Given the description of an element on the screen output the (x, y) to click on. 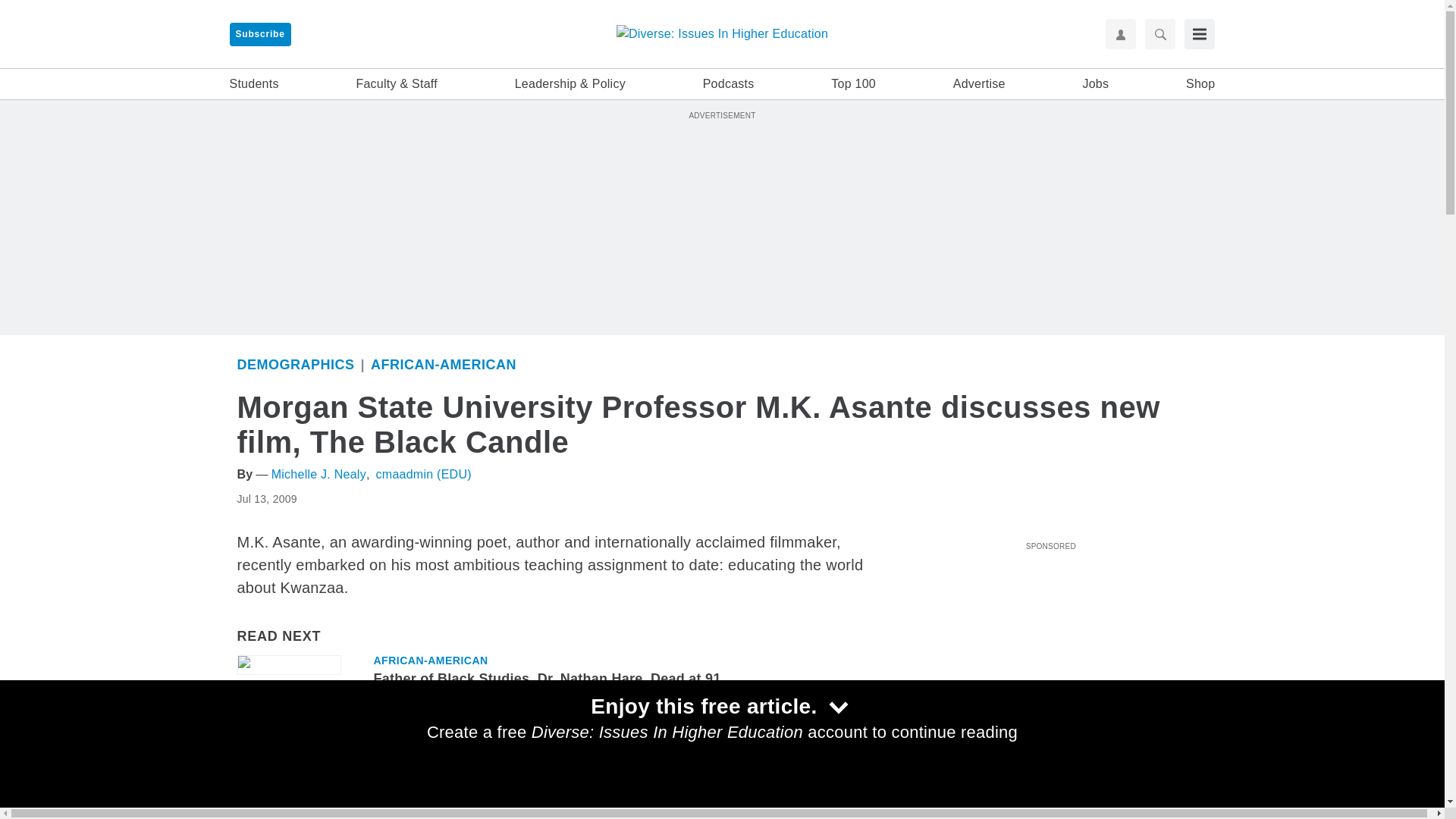
Subscribe (258, 33)
Jobs (1094, 84)
Subscribe (258, 33)
African-American (443, 364)
Advertise (979, 84)
Youtube Player (1050, 641)
Shop (1200, 84)
Top 100 (853, 84)
Demographics (294, 364)
Students (253, 84)
Podcasts (728, 84)
